Given the description of an element on the screen output the (x, y) to click on. 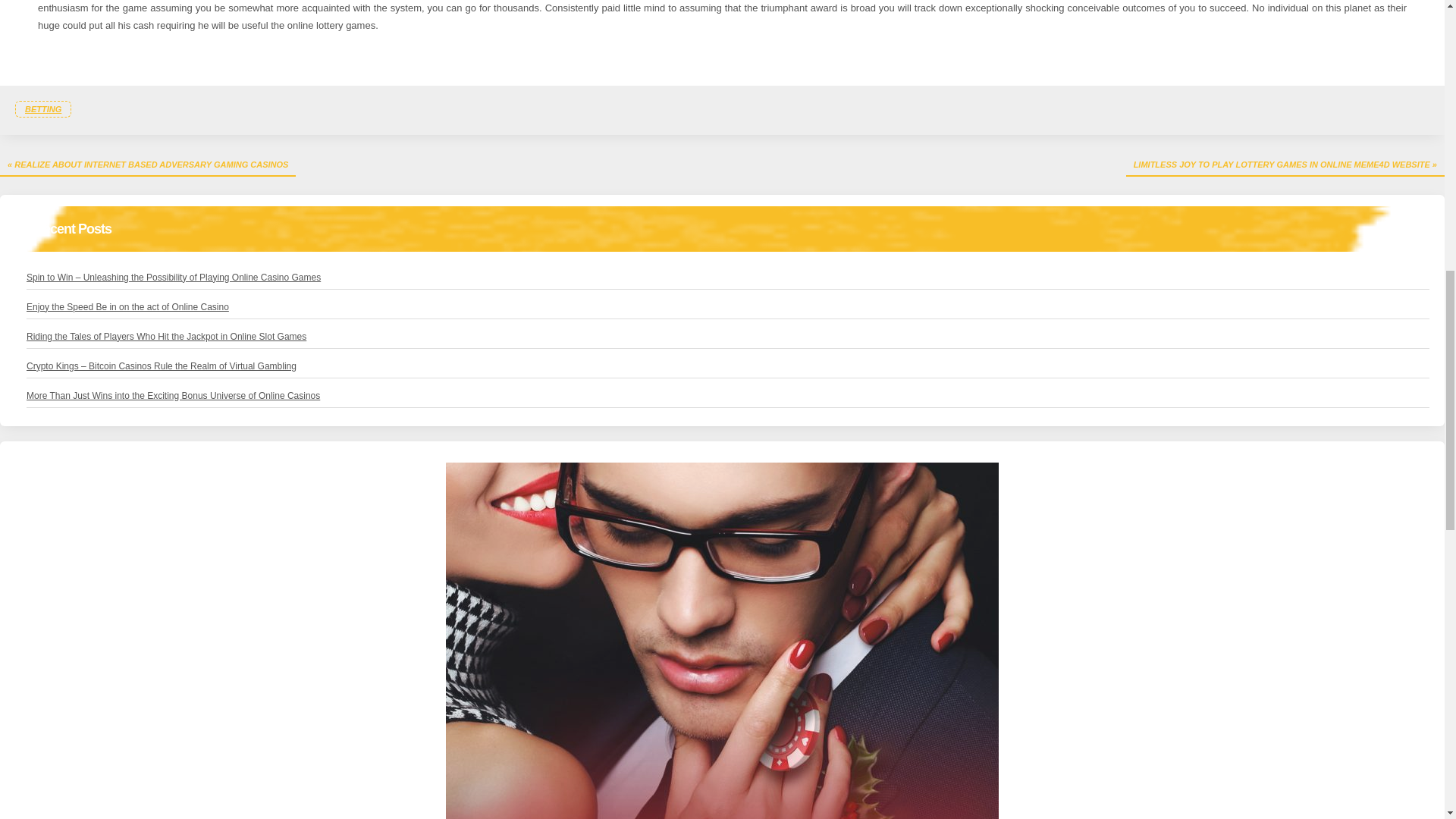
REALIZE ABOUT INTERNET BASED ADVERSARY GAMING CASINOS (147, 164)
BETTING (42, 108)
Enjoy the Speed Be in on the act of Online Casino (127, 306)
